Given the description of an element on the screen output the (x, y) to click on. 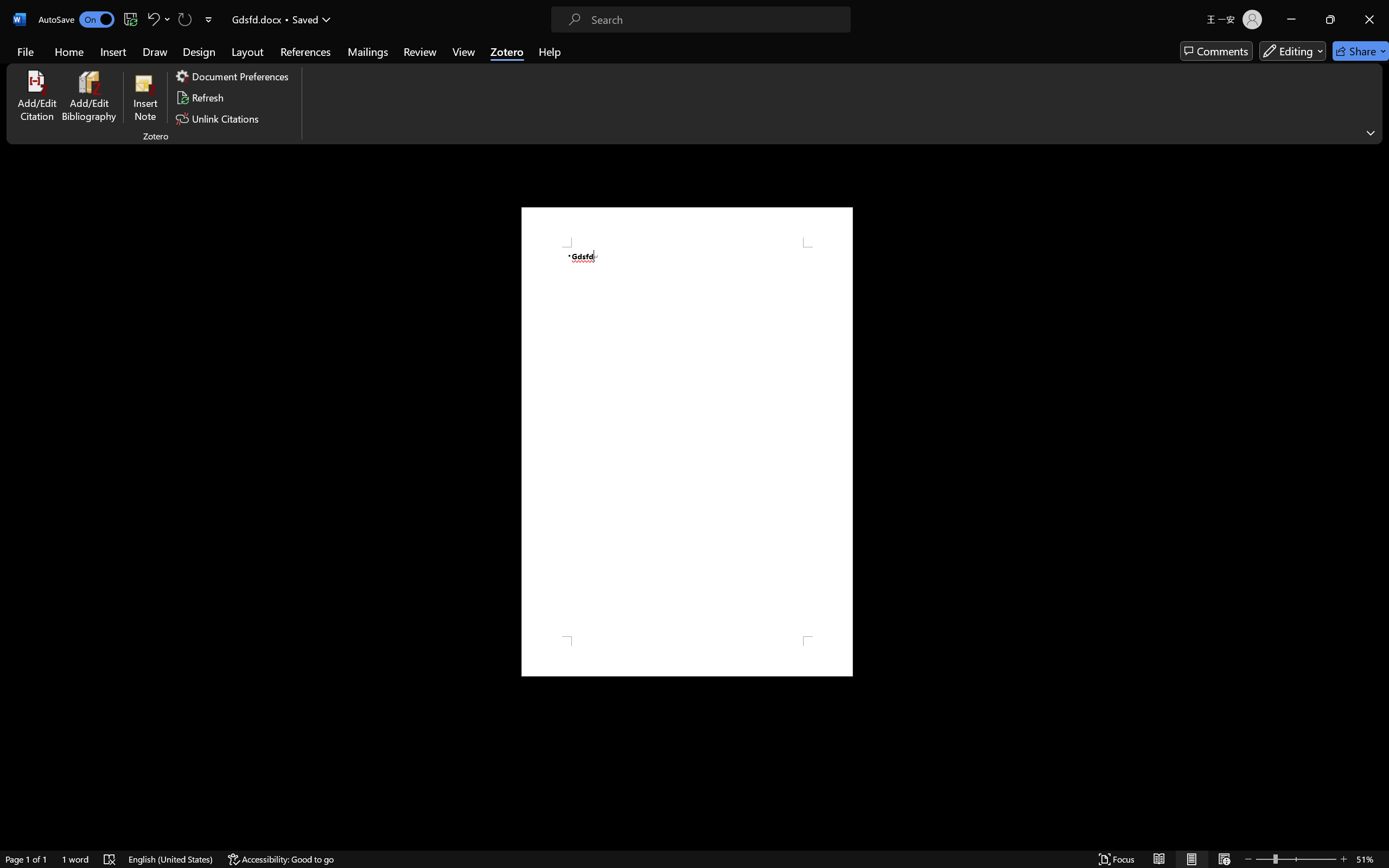
Page 1 content (686, 441)
